Given the description of an element on the screen output the (x, y) to click on. 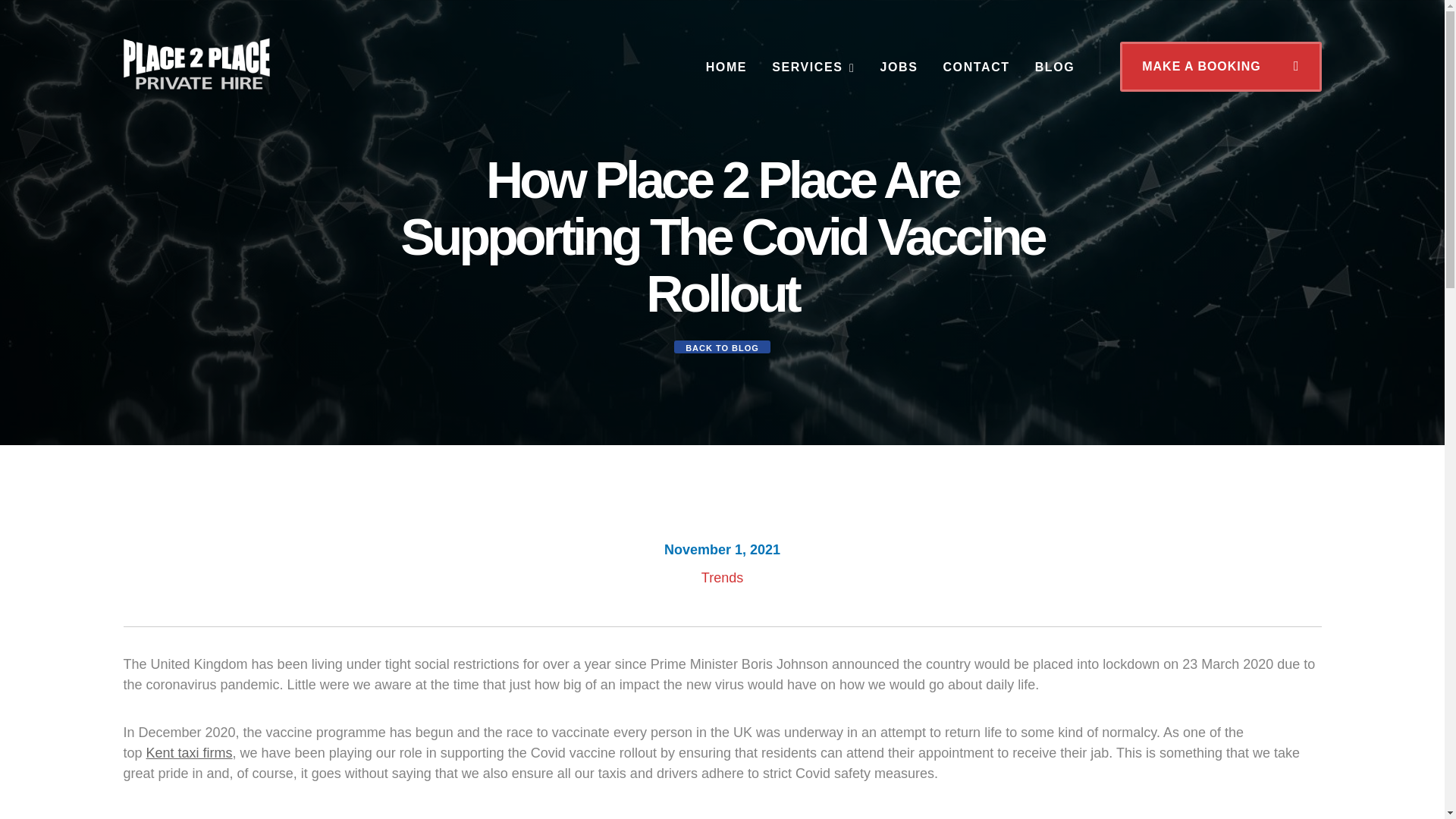
MAKE A BOOKING (1219, 66)
JOBS (898, 66)
BLOG (1055, 66)
Trends (721, 577)
BACK TO BLOG (722, 346)
SERVICES (812, 66)
Kent taxi firms (189, 752)
CONTACT (975, 66)
HOME (726, 66)
How Place 2 Place are Supporting the Covid Vaccine Rollout (195, 63)
